Given the description of an element on the screen output the (x, y) to click on. 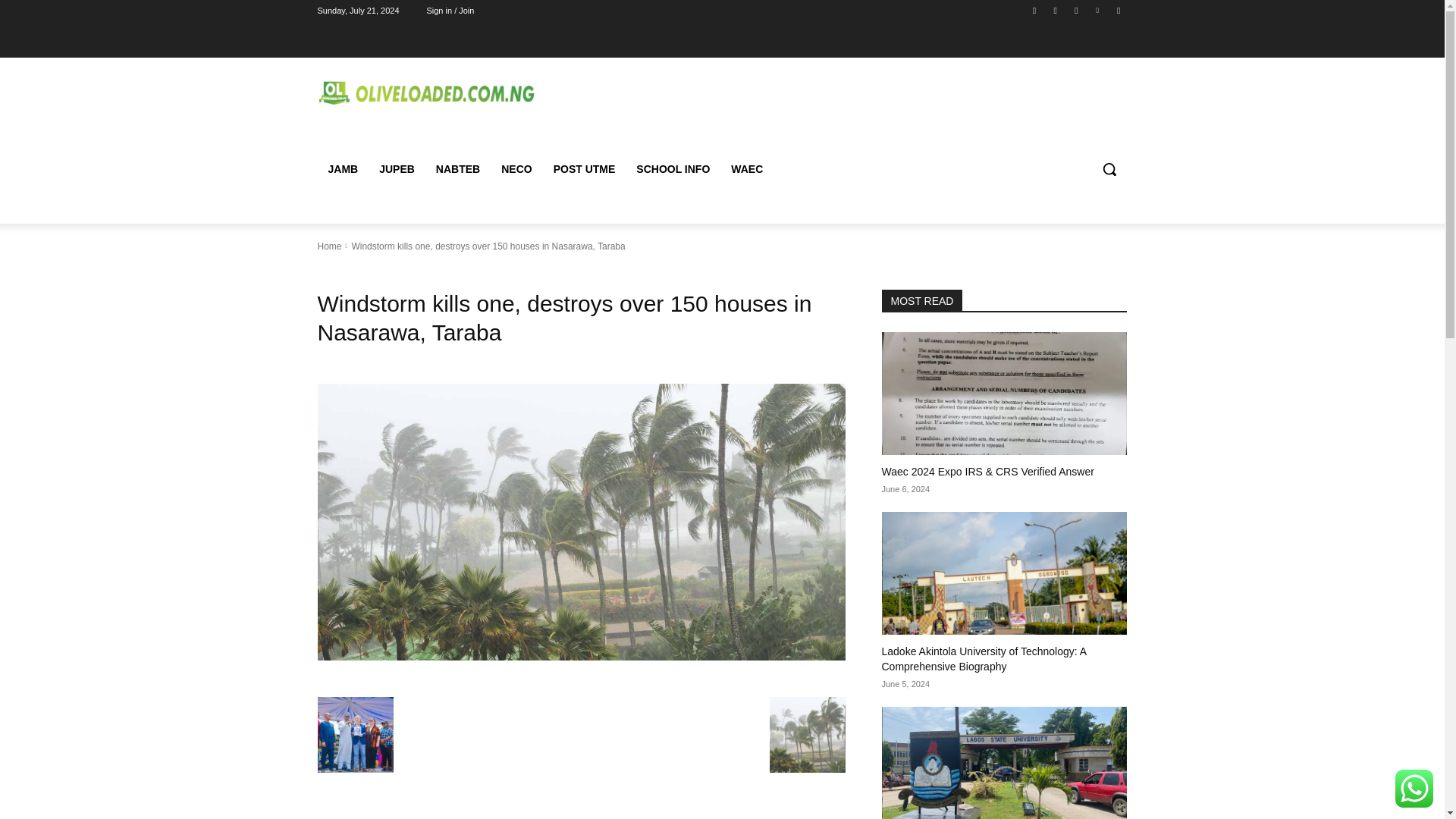
Facebook (1034, 9)
Home (328, 245)
JAMB (342, 168)
Vimeo (1097, 9)
WAEC (746, 168)
SCHOOL INFO (673, 168)
Twitter (1075, 9)
Instagram (1055, 9)
JUPEB (396, 168)
Youtube (1117, 9)
NABTEB (457, 168)
POST UTME (584, 168)
NECO (515, 168)
